Given the description of an element on the screen output the (x, y) to click on. 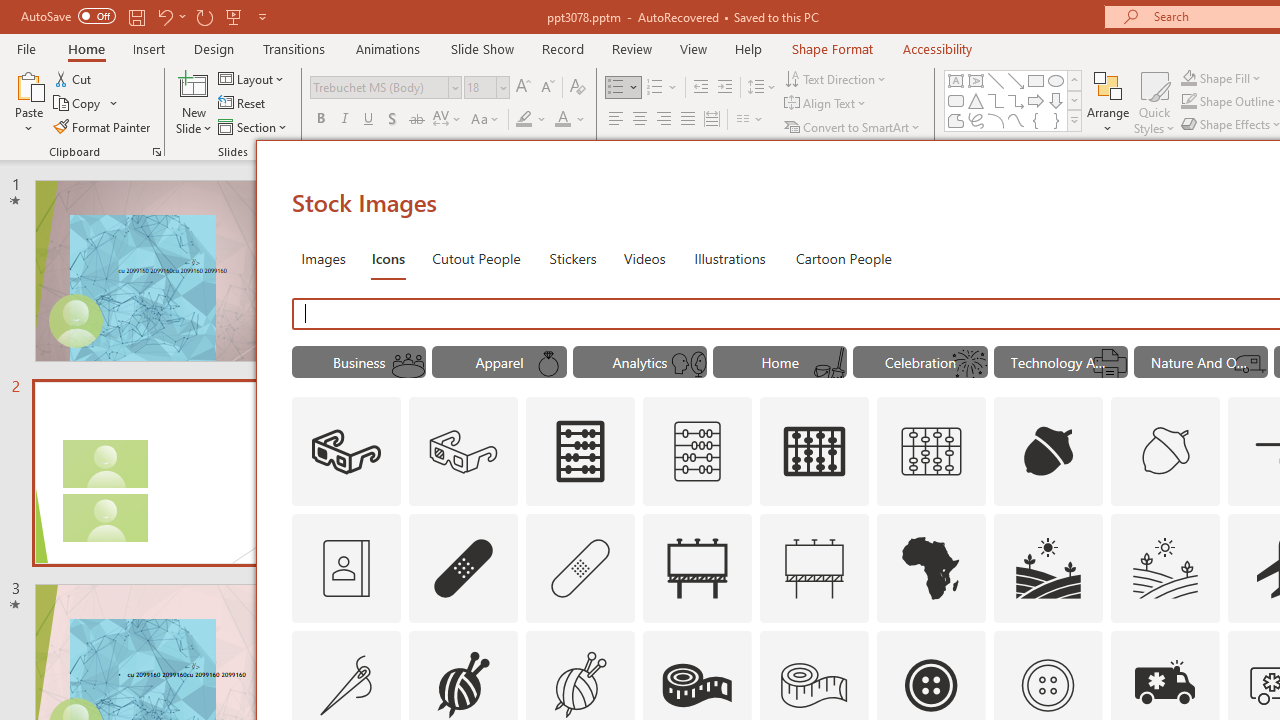
AutomationID: Icons_3dGlasses (346, 452)
AutomationID: Icons_Trailer_M (1249, 364)
Line Spacing (762, 87)
Center (639, 119)
Curve (1016, 120)
Clear Formatting (577, 87)
AutomationID: Icons_MopAndBucket_M (829, 364)
AutomationID: Icons_AdhesiveBandage_M (580, 568)
Distributed (712, 119)
Align Right (663, 119)
